Given the description of an element on the screen output the (x, y) to click on. 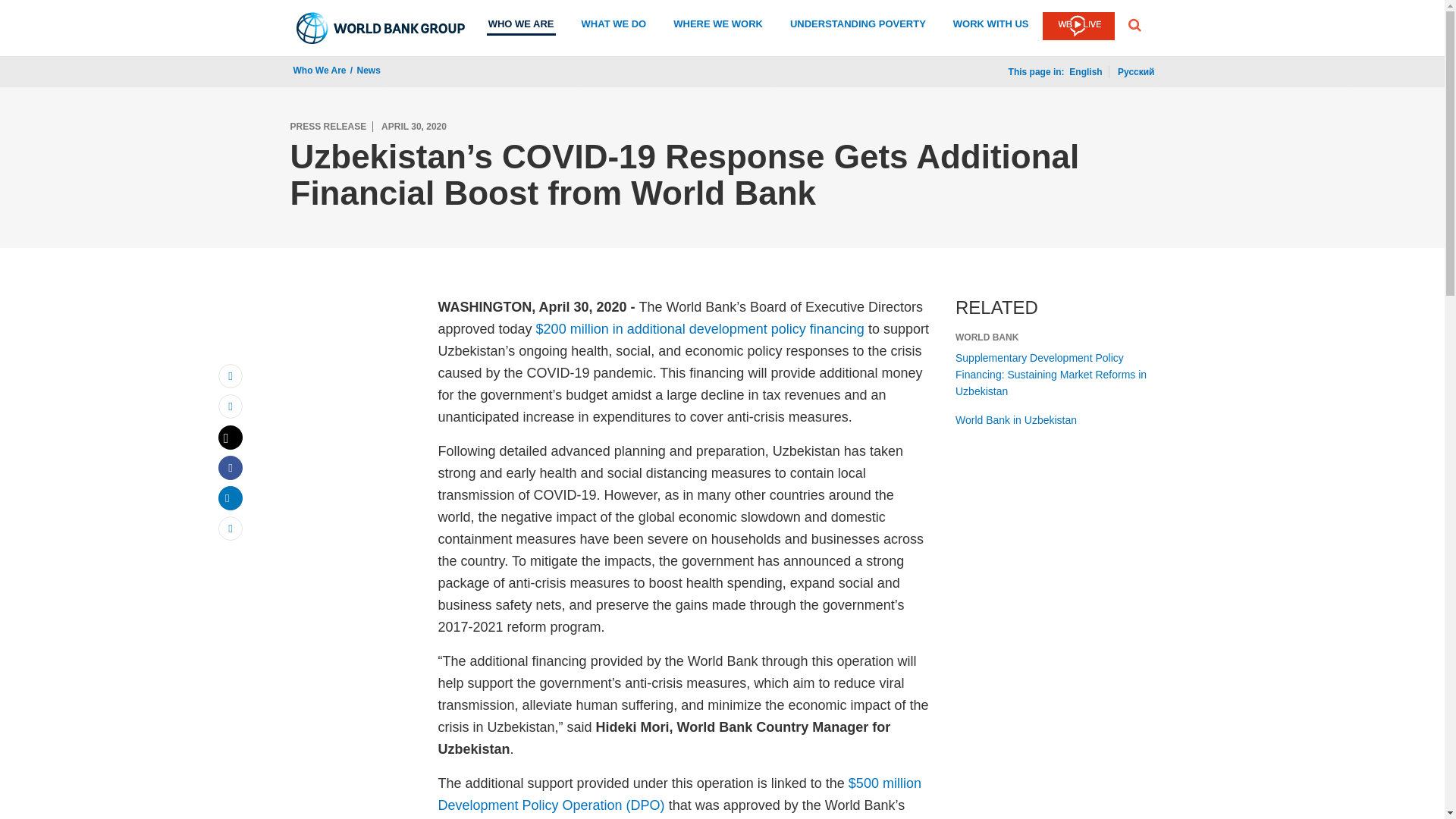
The World Bank Group logo (380, 28)
Tweet (230, 437)
Global Search (1134, 24)
Facebook (230, 467)
Share (230, 528)
Print (230, 405)
WHO WE ARE (521, 25)
Email (230, 375)
WHAT WE DO (613, 25)
